Given the description of an element on the screen output the (x, y) to click on. 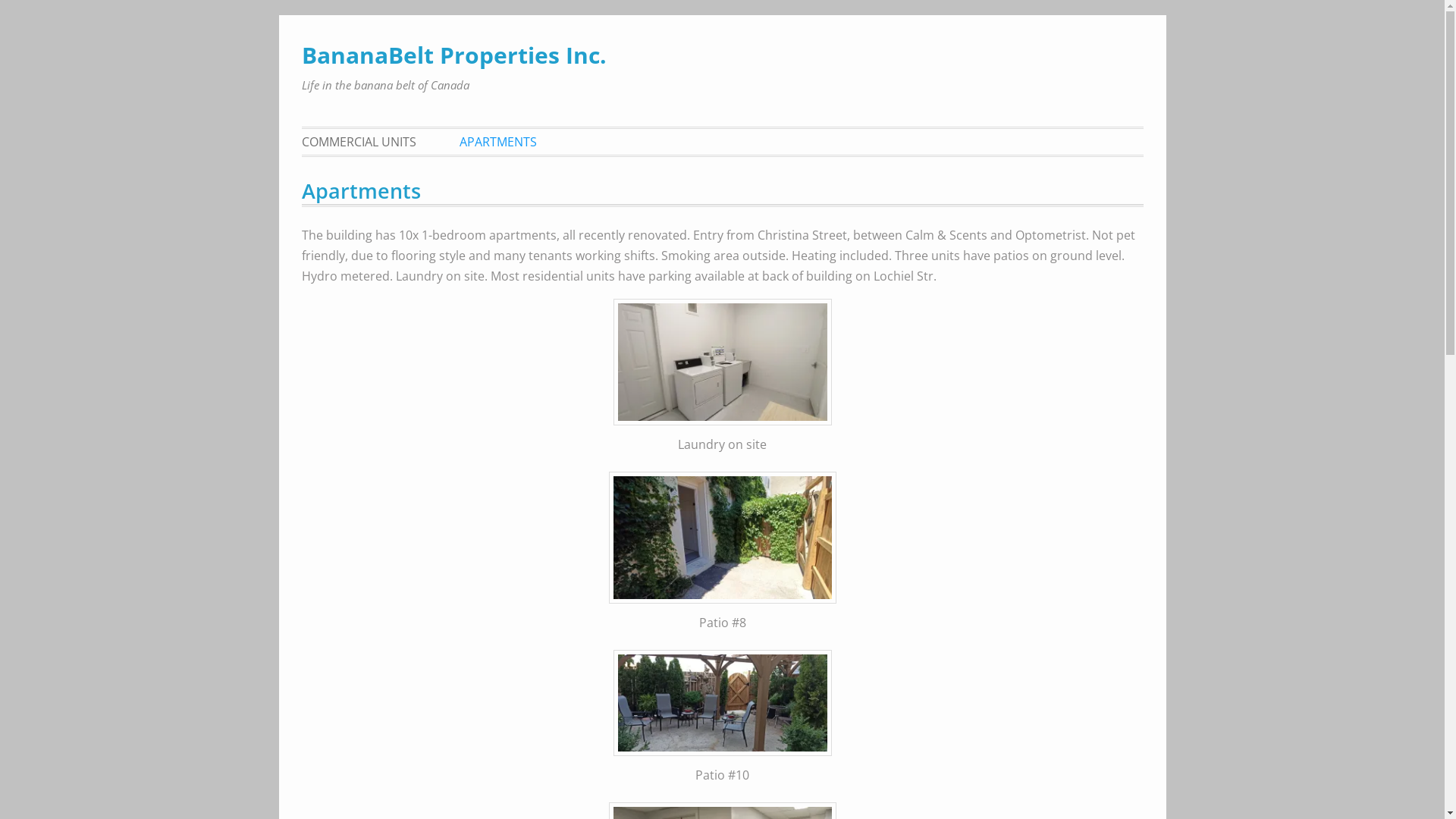
APARTMENTS Element type: text (497, 141)
Skip to content Element type: text (300, 14)
BananaBelt Properties Inc. Element type: text (453, 54)
COMMERCIAL UNITS Element type: text (368, 141)
